Given the description of an element on the screen output the (x, y) to click on. 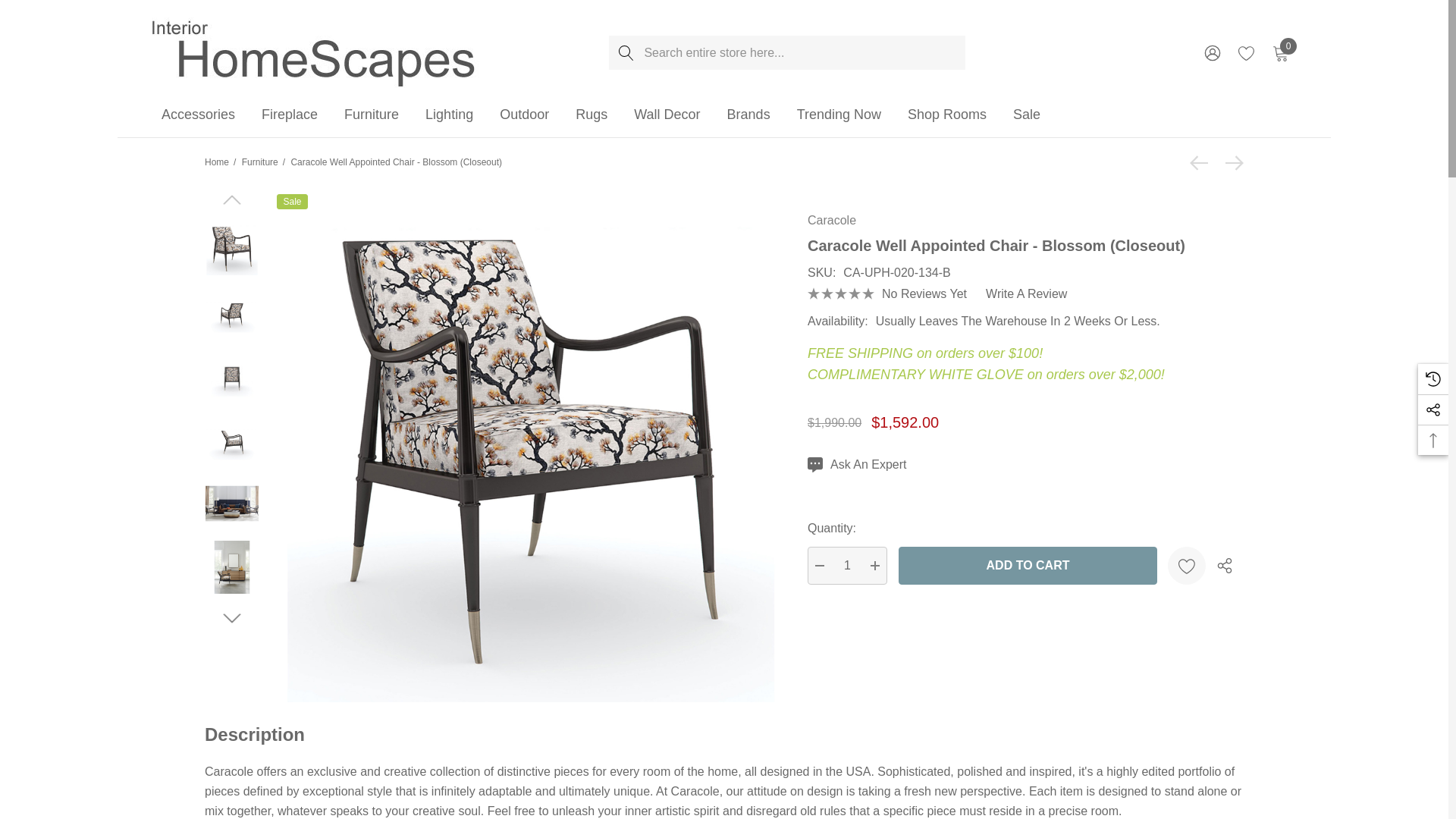
Add to Cart (1027, 565)
Accessories (197, 115)
Caracole Well Appointed Chair - Blossom (232, 248)
1 (847, 565)
Interior HomeScapes (315, 52)
